Given the description of an element on the screen output the (x, y) to click on. 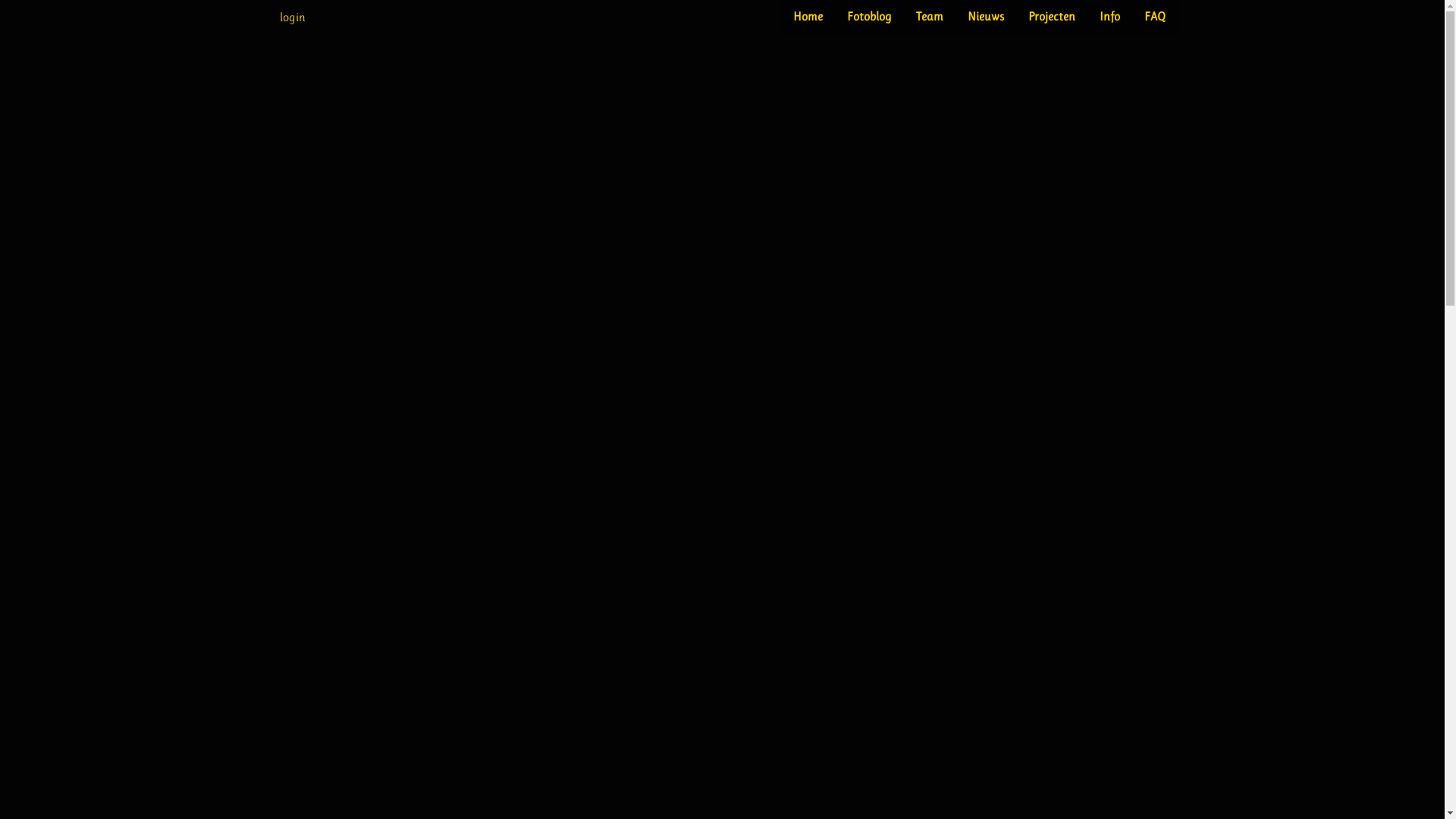
Nieuws Element type: text (985, 17)
Projecten Element type: text (1051, 17)
Home Element type: text (807, 17)
Fotoblog Element type: text (868, 17)
Team Element type: text (929, 17)
Info Element type: text (1109, 17)
FAQ Element type: text (1153, 17)
login Element type: text (291, 17)
